Given the description of an element on the screen output the (x, y) to click on. 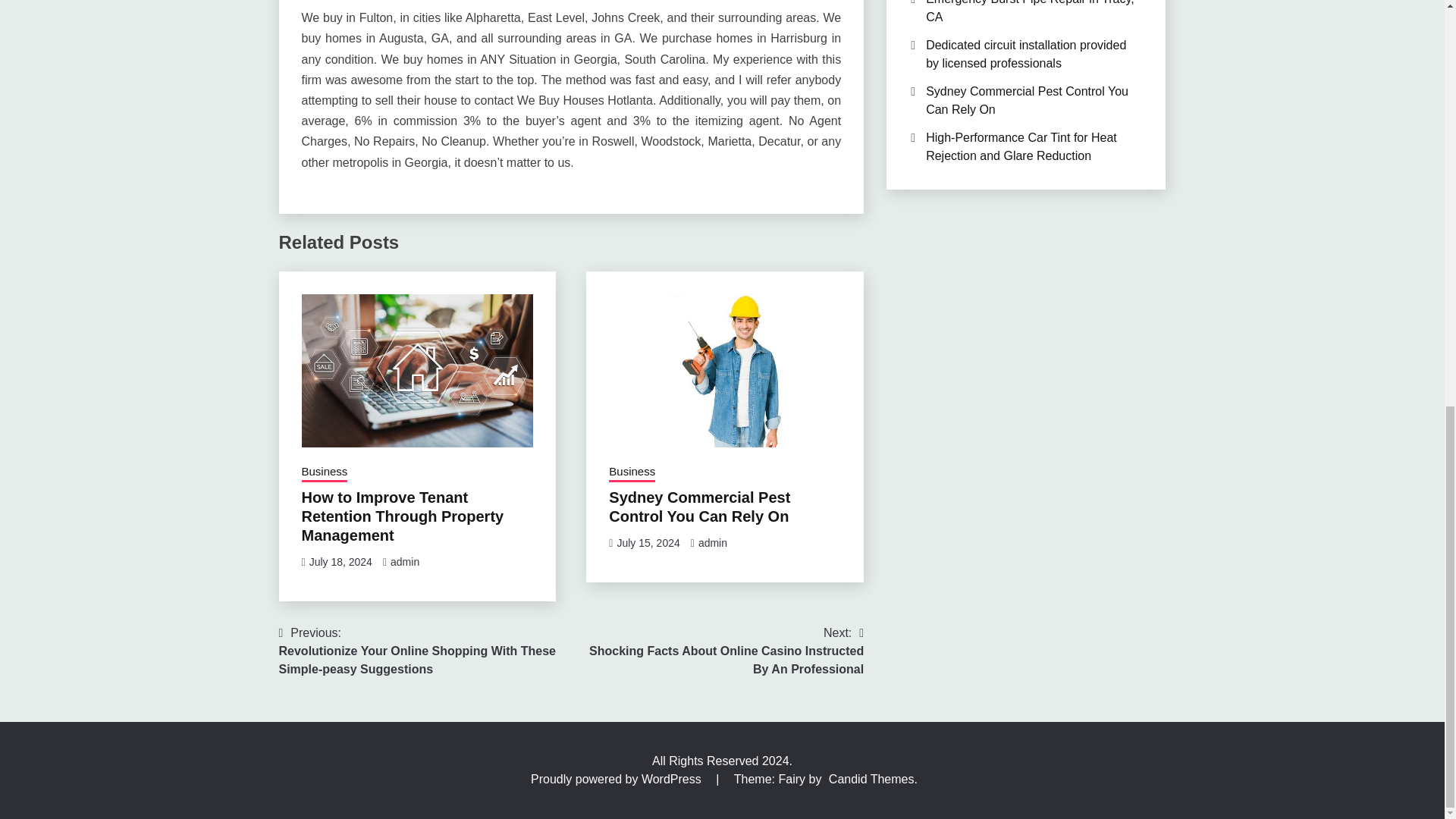
How to Improve Tenant Retention Through Property Management (402, 515)
July 15, 2024 (647, 542)
July 18, 2024 (340, 562)
Sydney Commercial Pest Control You Can Rely On (699, 506)
Business (324, 472)
Business (631, 472)
admin (712, 542)
admin (404, 562)
